Given the description of an element on the screen output the (x, y) to click on. 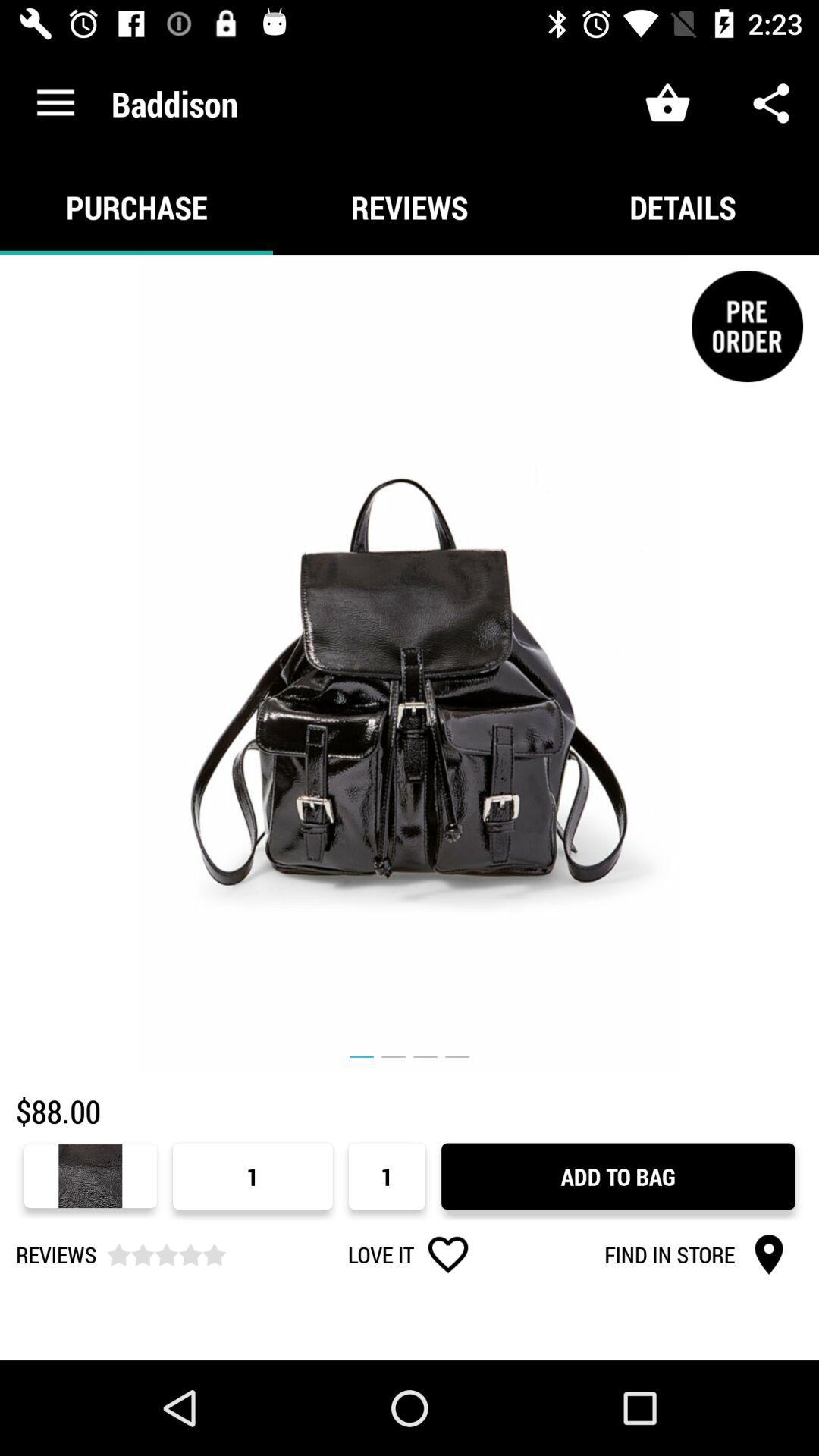
open icon below the purchase (409, 663)
